Given the description of an element on the screen output the (x, y) to click on. 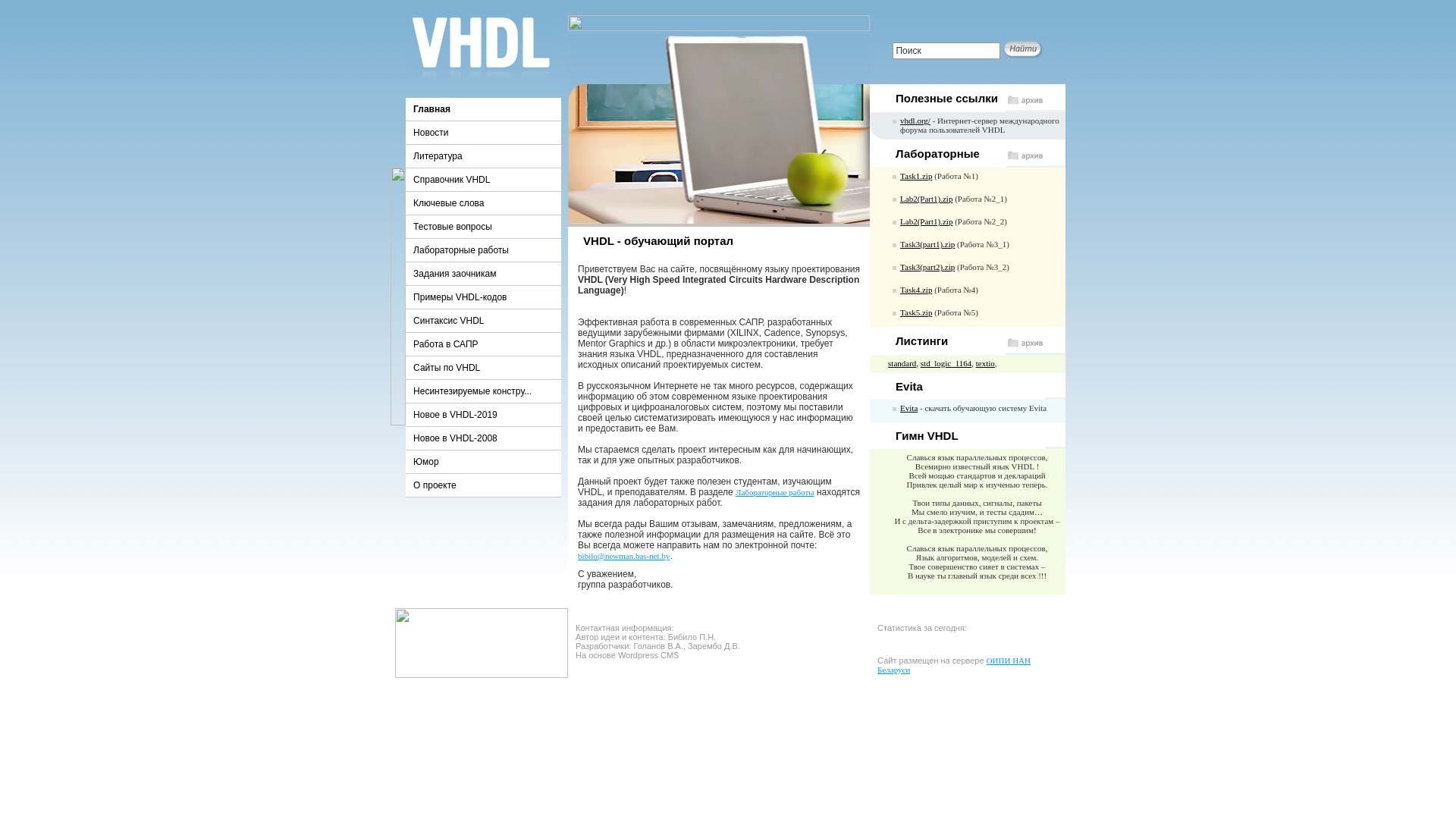
textio Element type: text (984, 362)
Task3(part1).zip Element type: text (927, 243)
Lab2(Part1).zip Element type: text (926, 220)
Task4.zip Element type: text (915, 289)
standard Element type: text (902, 362)
Lab2(Part1).zip Element type: text (926, 198)
bibilo@newman.bas-net.by Element type: text (623, 555)
Evita Element type: text (908, 407)
vhdl.org/ Element type: text (915, 120)
Task1.zip Element type: text (915, 175)
std_logic_1164 Element type: text (945, 362)
Task5.zip Element type: text (915, 311)
Task3(part2).zip Element type: text (927, 266)
